Given the description of an element on the screen output the (x, y) to click on. 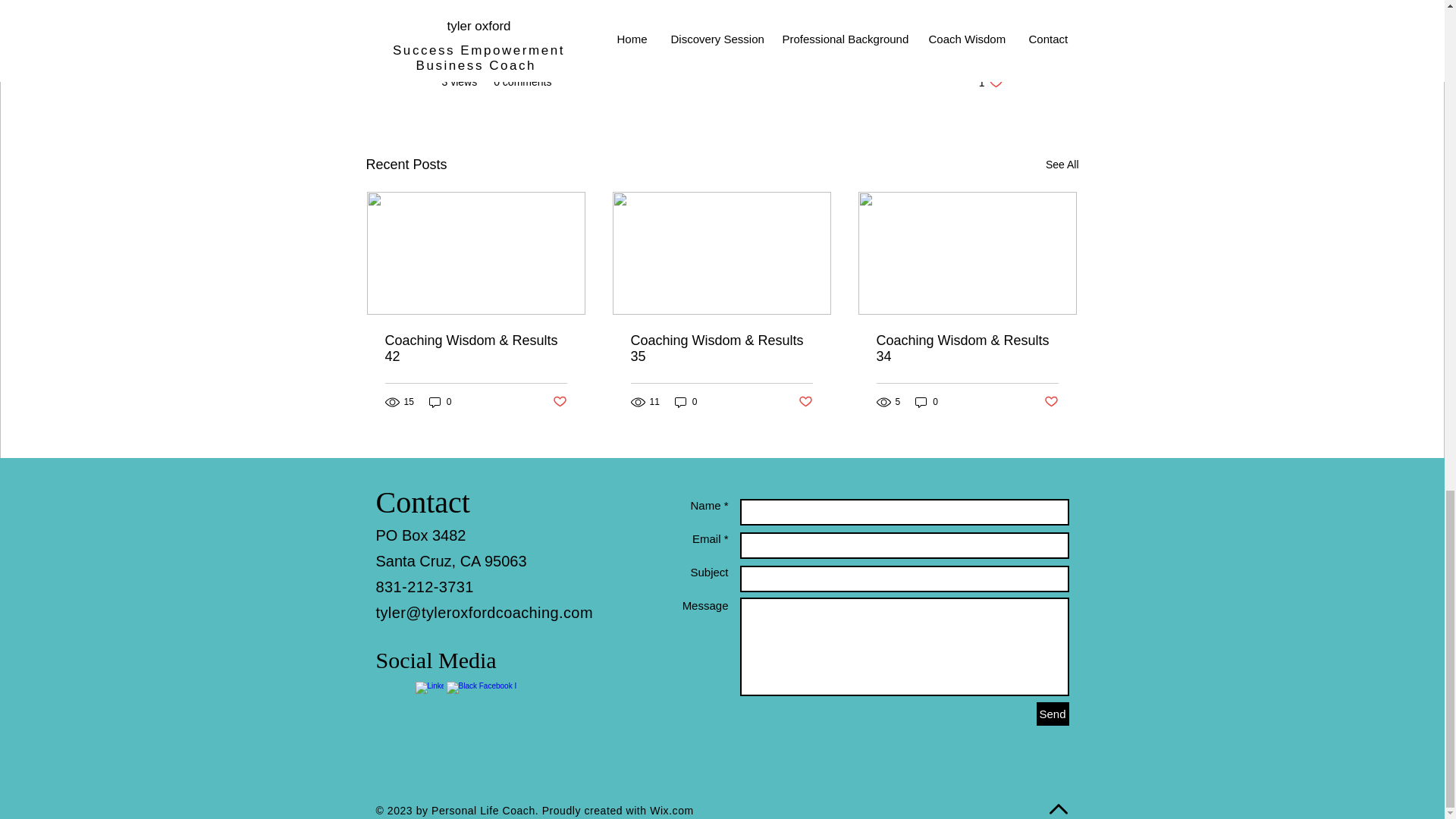
Send (1051, 713)
0 (685, 400)
Post not marked as liked (558, 401)
Post not marked as liked (1050, 401)
See All (990, 82)
Wix.com (1061, 164)
0 (671, 810)
0 (926, 400)
Post not marked as liked (440, 400)
